Given the description of an element on the screen output the (x, y) to click on. 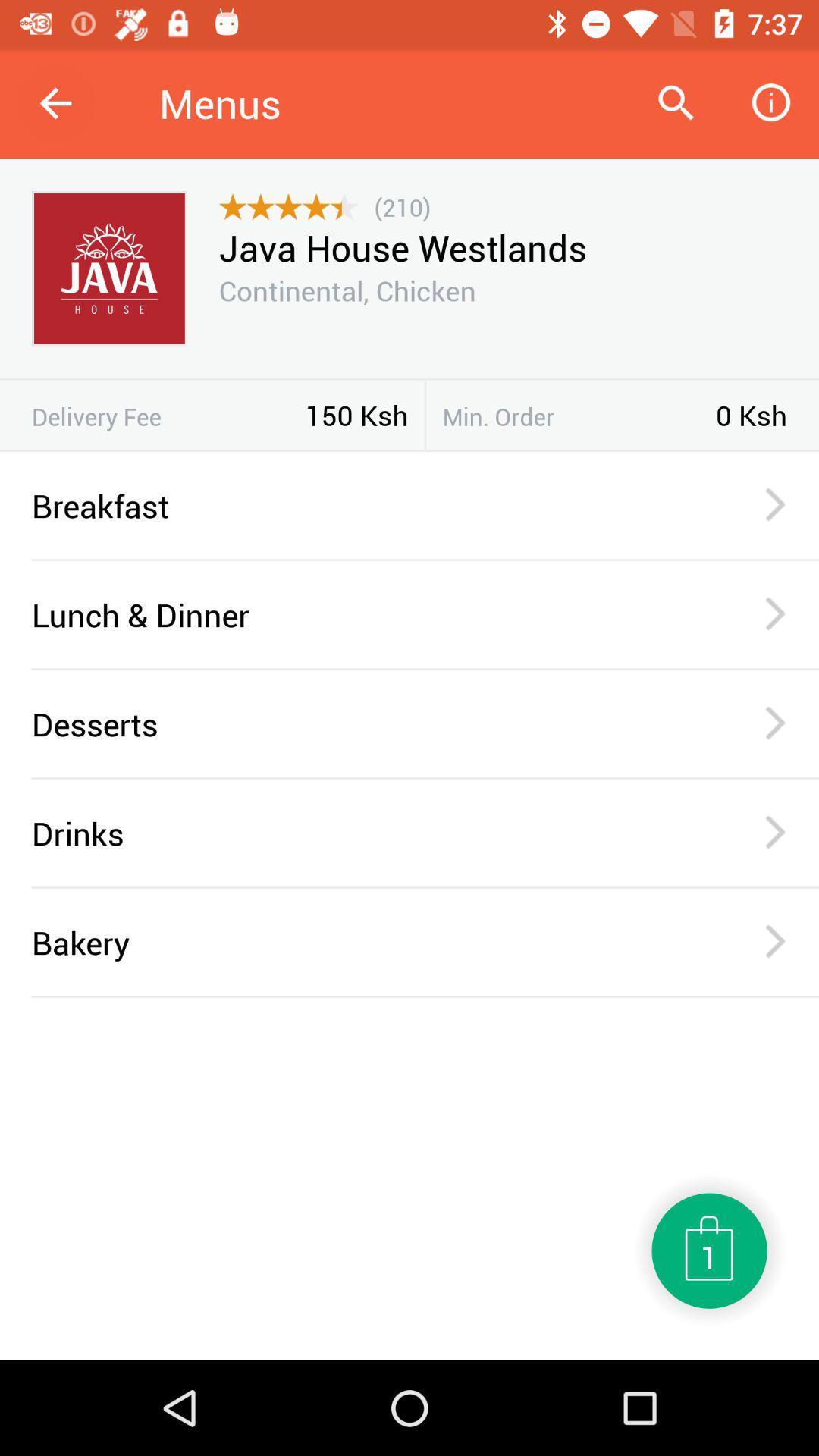
select the item next to the (210) item (288, 207)
